Given the description of an element on the screen output the (x, y) to click on. 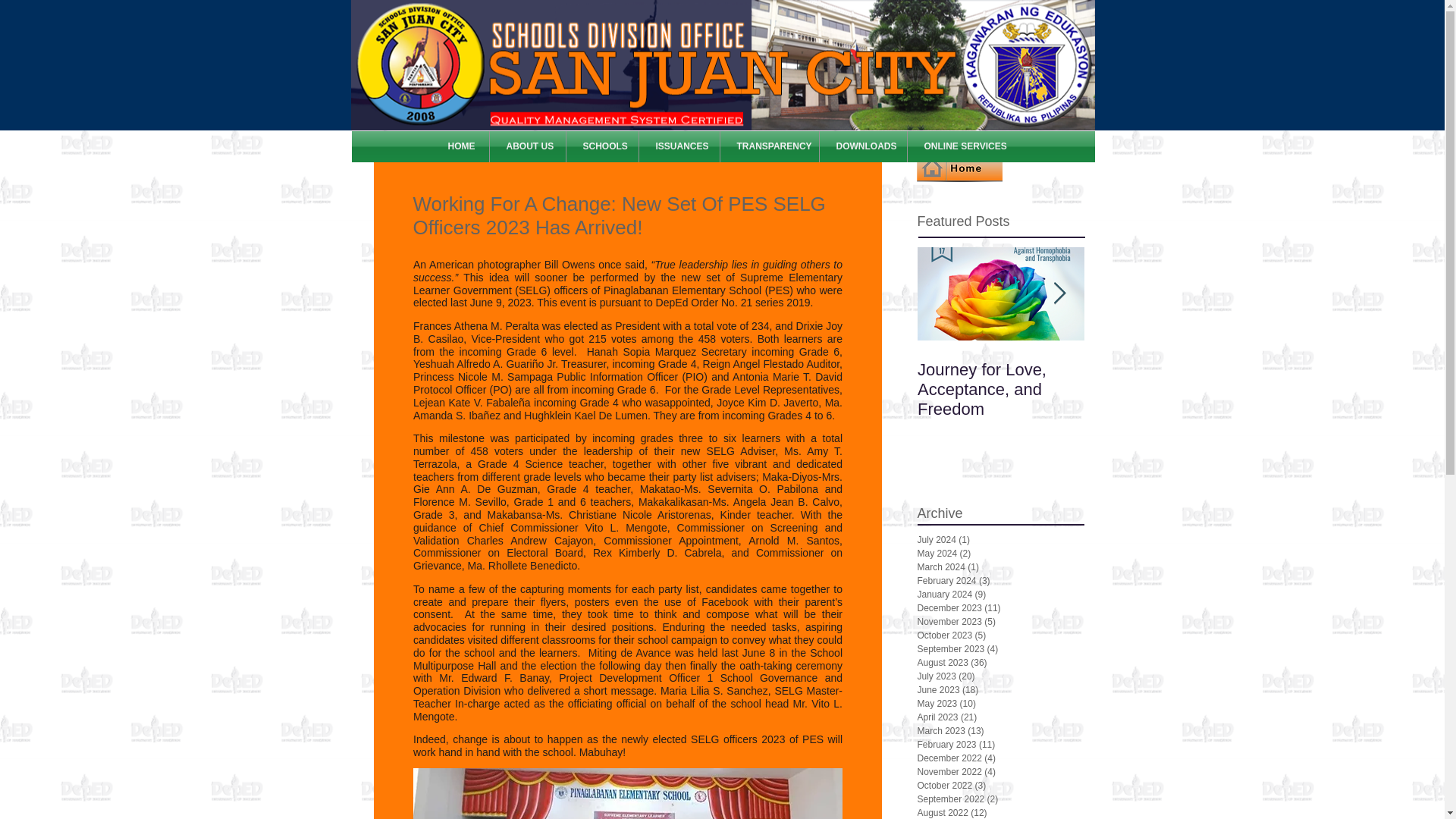
ABOUT US (527, 146)
The Father of SJES: Knowing Sir Lloyd Tulaylay (1167, 389)
HOME (458, 146)
Journey for Love, Acceptance, and Freedom (1000, 389)
